Given the description of an element on the screen output the (x, y) to click on. 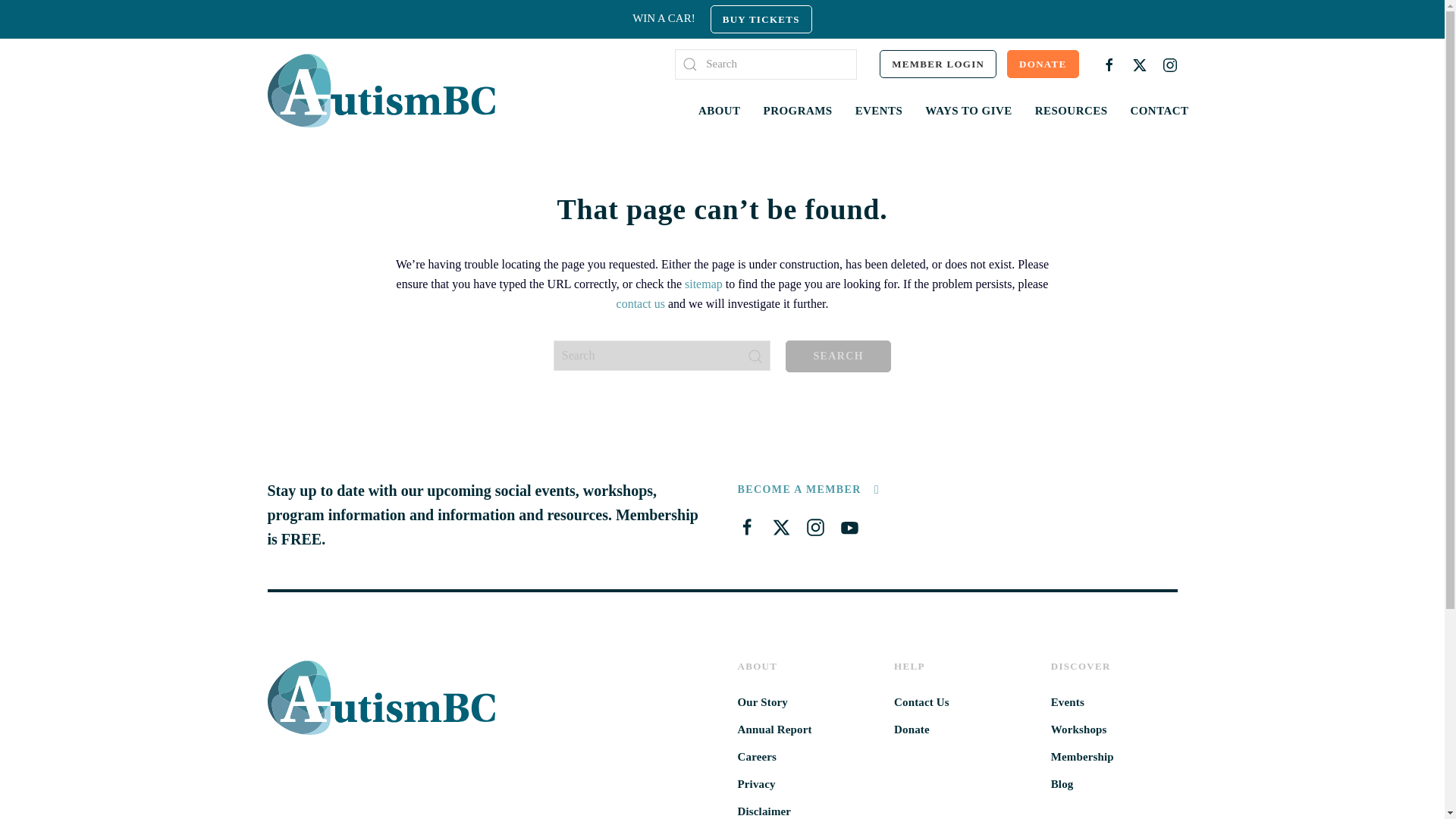
BUY TICKETS (761, 18)
Search (838, 356)
ABOUT (719, 110)
